Given the description of an element on the screen output the (x, y) to click on. 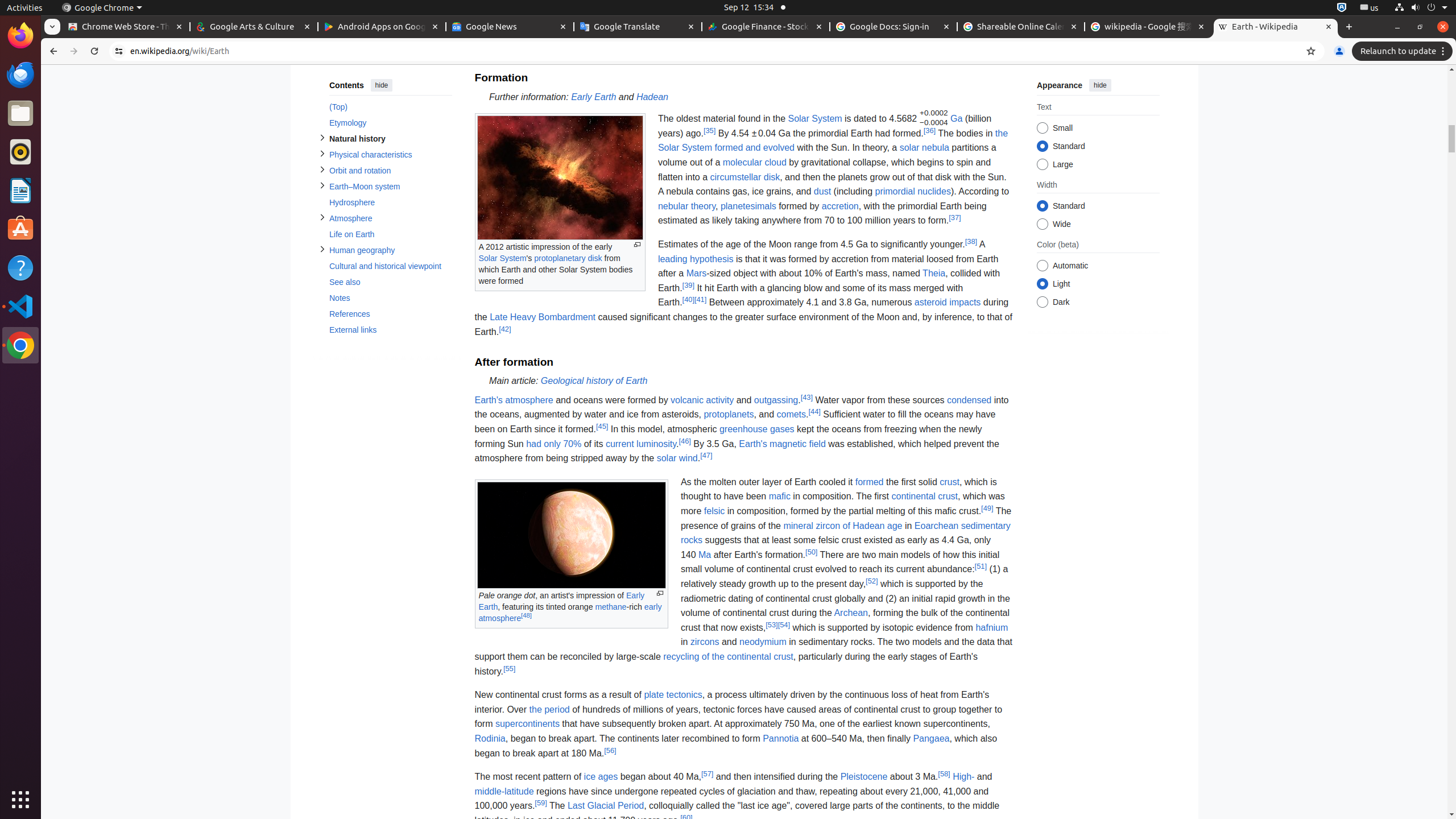
High- Element type: link (963, 776)
sedimentary rocks Element type: link (845, 532)
Solar System Element type: link (502, 258)
LibreOffice Writer Element type: push-button (20, 190)
greenhouse gases Element type: link (756, 429)
